Given the description of an element on the screen output the (x, y) to click on. 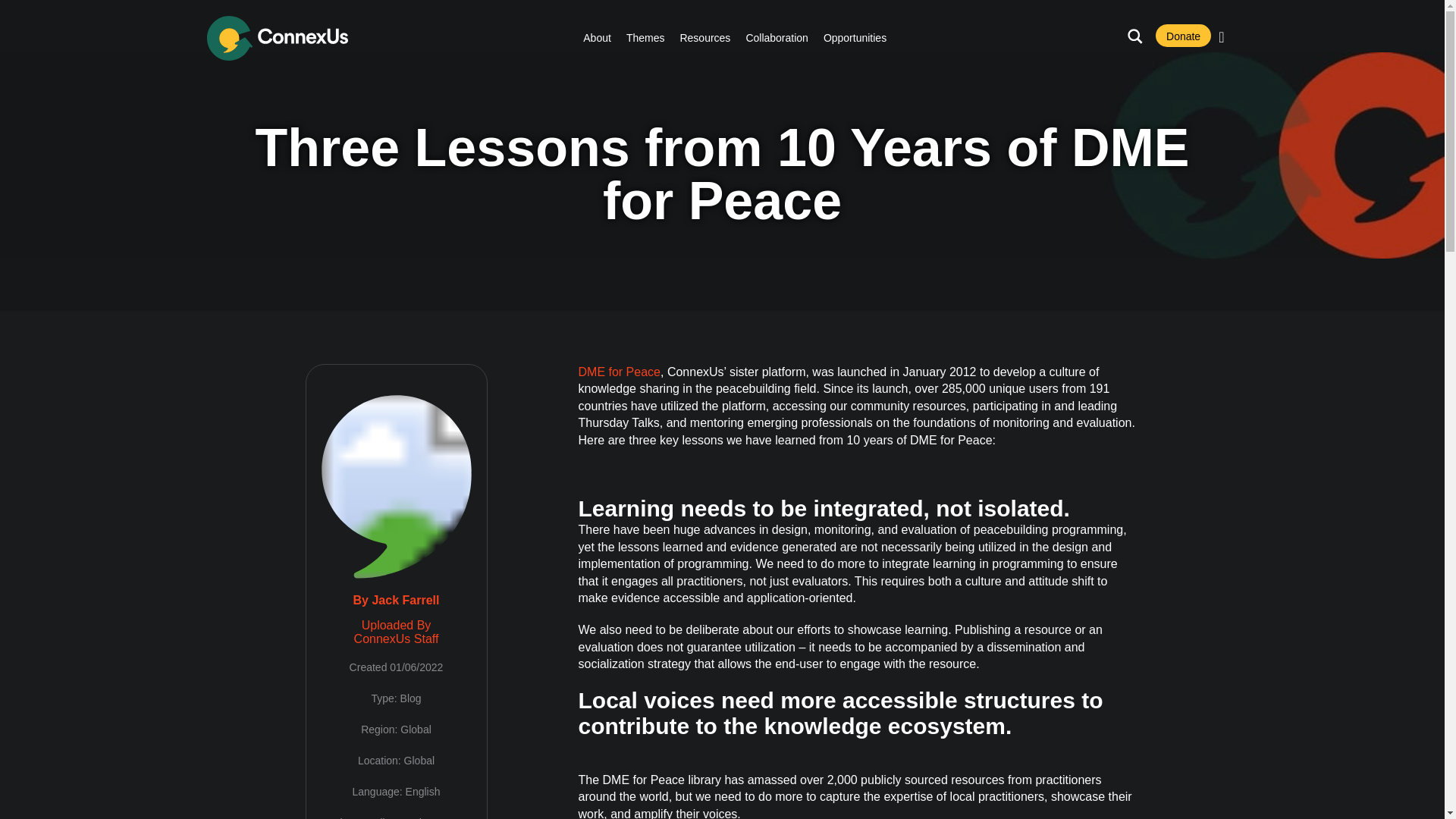
Opportunities (855, 37)
Resources (704, 37)
Collaboration (776, 37)
Donate (1183, 35)
